Given the description of an element on the screen output the (x, y) to click on. 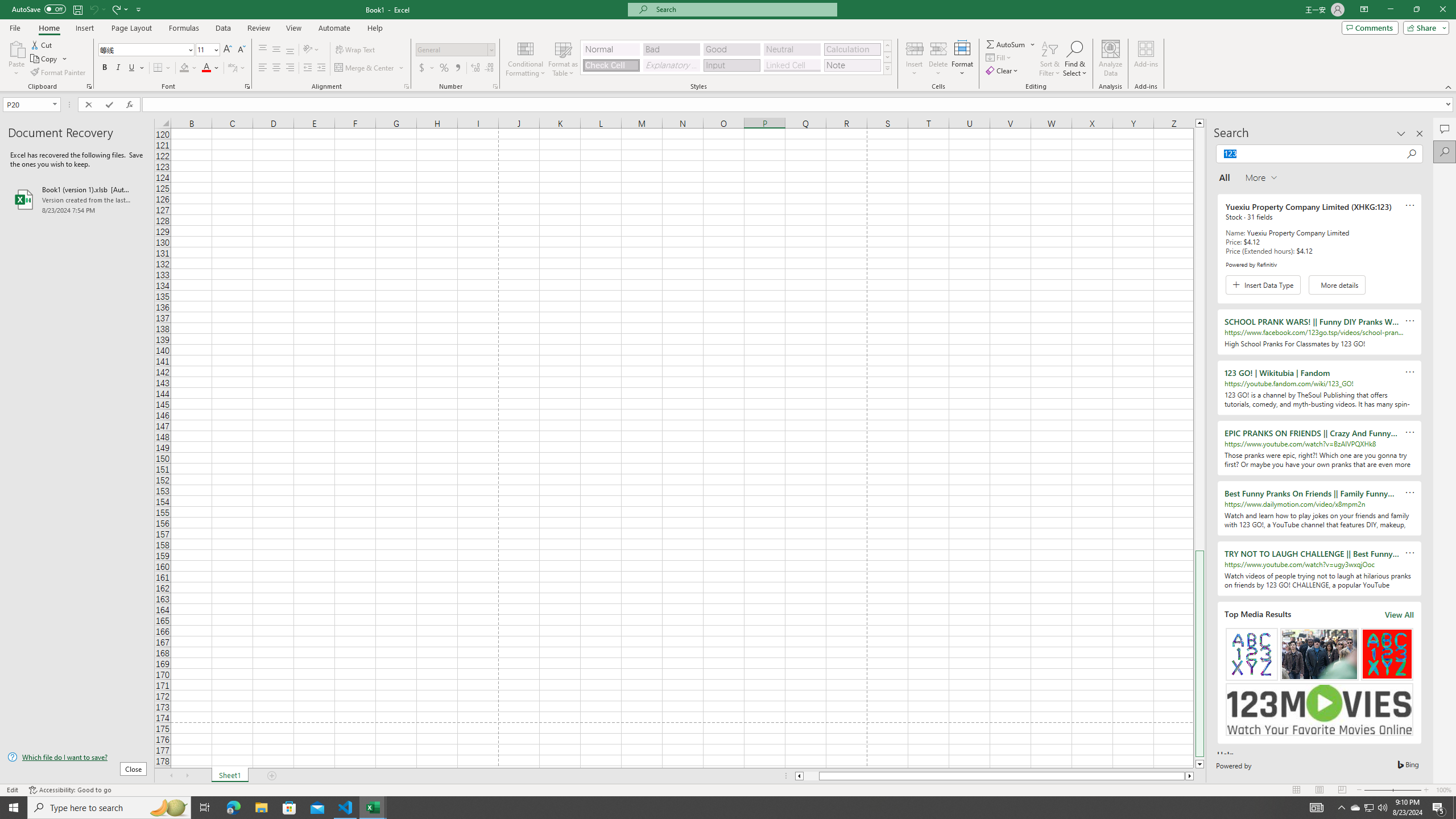
Bottom Border (157, 67)
Calculation (852, 49)
Fill Color RGB(255, 255, 0) (183, 67)
Wrap Text (355, 49)
Increase Font Size (227, 49)
Find & Select (1075, 58)
Office Clipboard... (88, 85)
Top Align (262, 49)
Copy (45, 58)
Format (962, 58)
Font Size (207, 49)
